Given the description of an element on the screen output the (x, y) to click on. 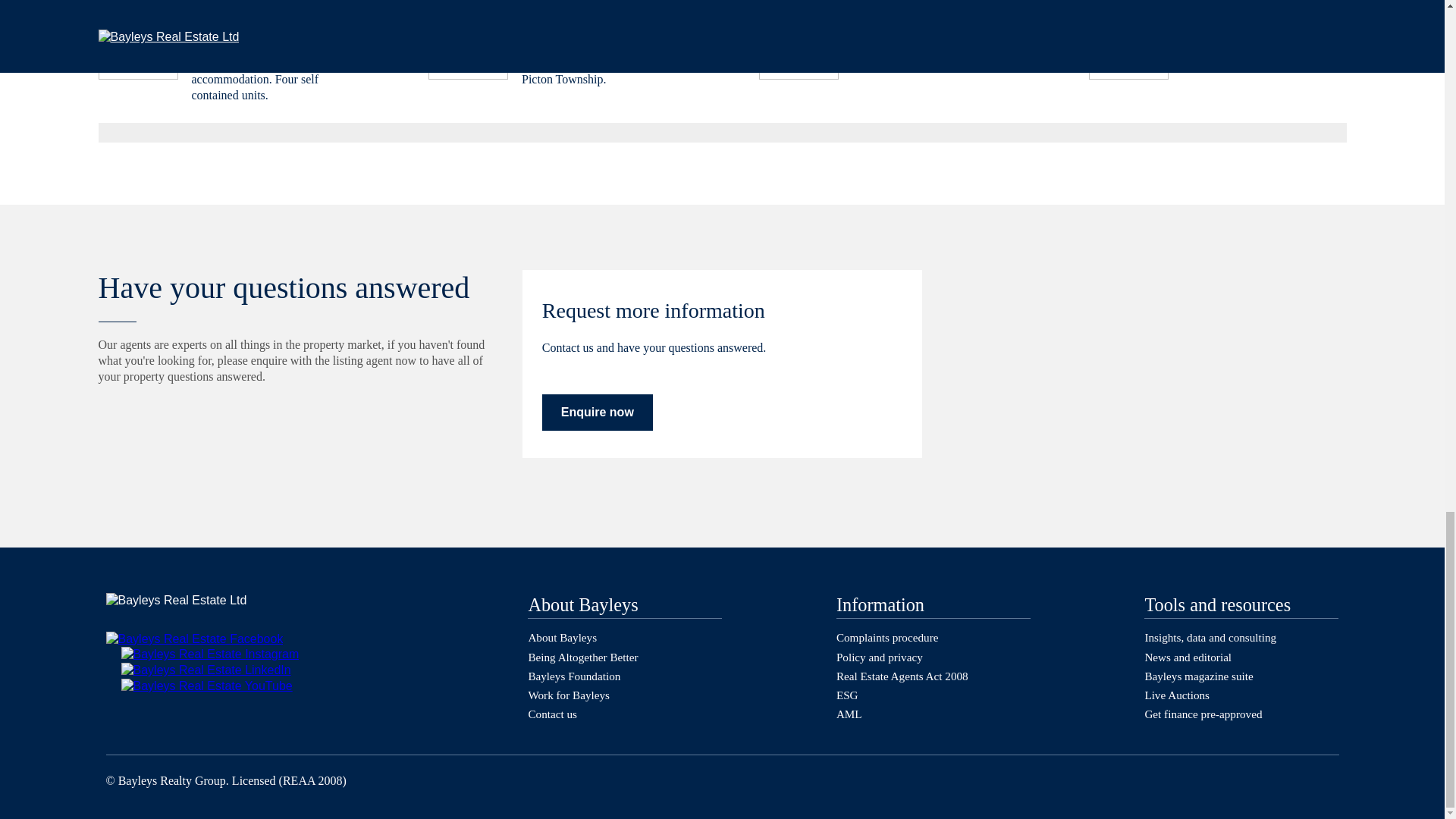
ESG (847, 694)
Insights, data and consulting (1210, 636)
About Bayleys (561, 636)
Enquire now (596, 411)
Work for Bayleys (568, 694)
Being Altogether Better (582, 656)
Contact us (551, 713)
Bayleys Foundation (573, 675)
AML (848, 713)
Policy and privacy (879, 656)
